Given the description of an element on the screen output the (x, y) to click on. 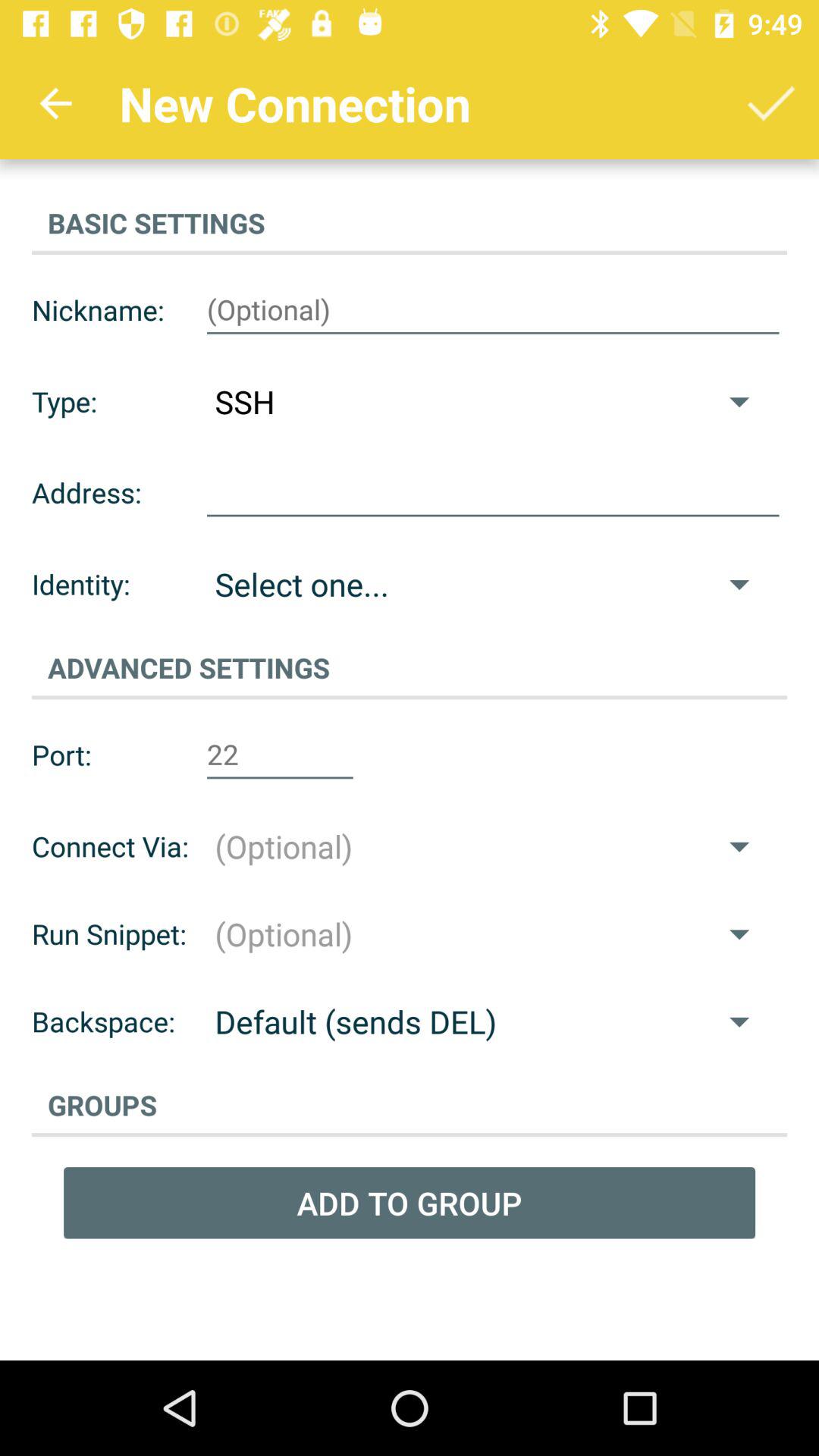
address entry field (493, 492)
